Given the description of an element on the screen output the (x, y) to click on. 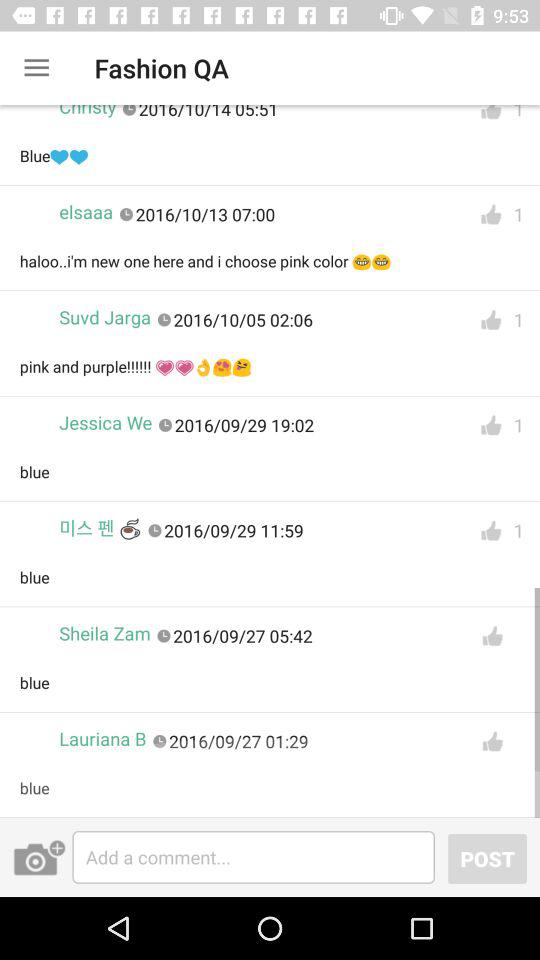
jump until the lauriana b icon (102, 738)
